Given the description of an element on the screen output the (x, y) to click on. 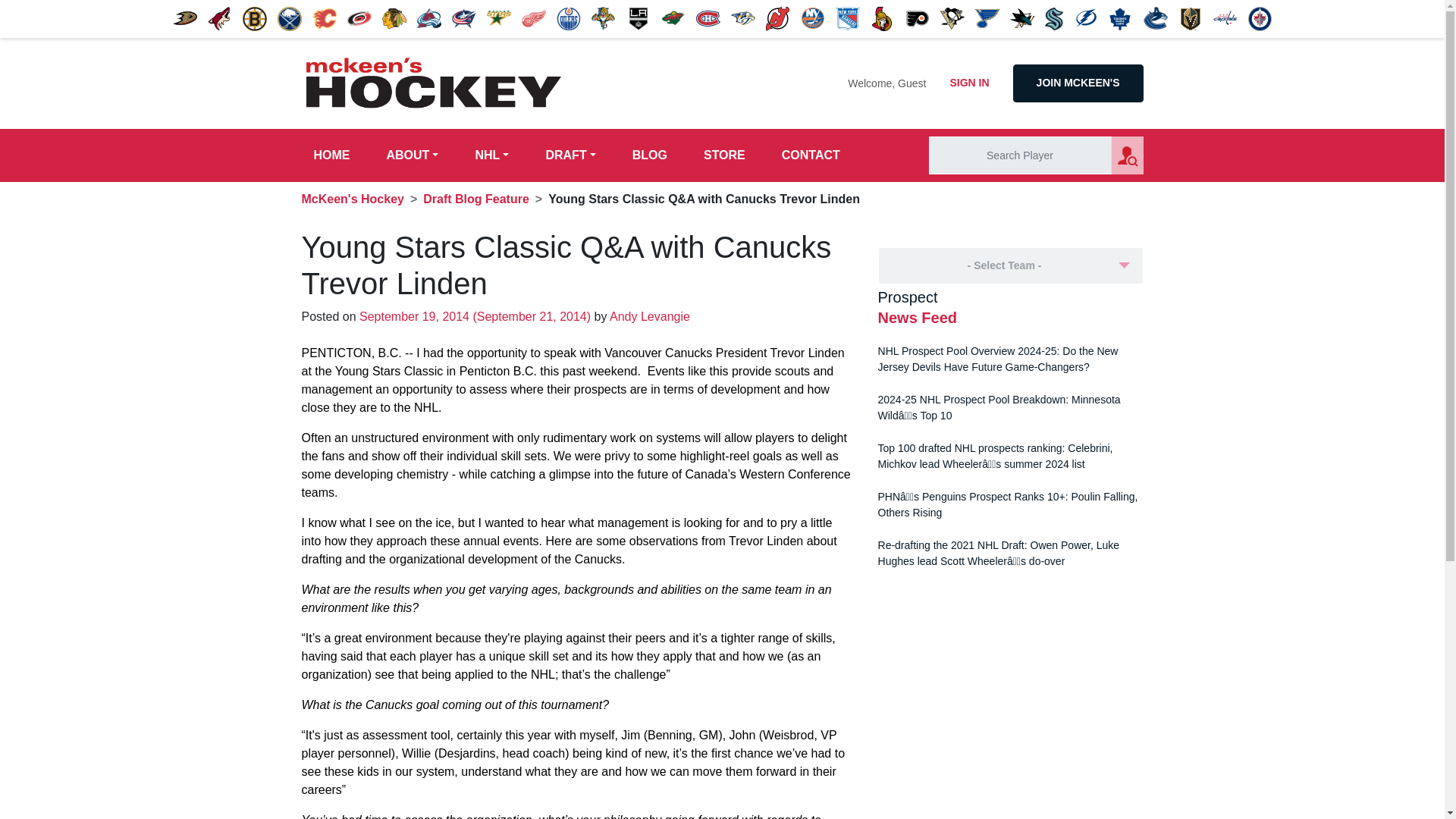
Chicago Blackhawks (393, 18)
Anaheim Ducks (184, 18)
Edmonton Oilers (568, 18)
Buffalo Sabres (289, 18)
Florida Panthers (603, 18)
Columbus Blue Jackets (463, 18)
Carolina Hurricanes (359, 18)
Detroit Red Wings (533, 18)
Colorado Avalanche (428, 18)
SIGN IN (968, 83)
HOME (331, 155)
Arizona Coyotes (219, 18)
JOIN MCKEEN'S (1077, 83)
McKeen's Hockey (433, 83)
Boston Bruins (254, 18)
